Given the description of an element on the screen output the (x, y) to click on. 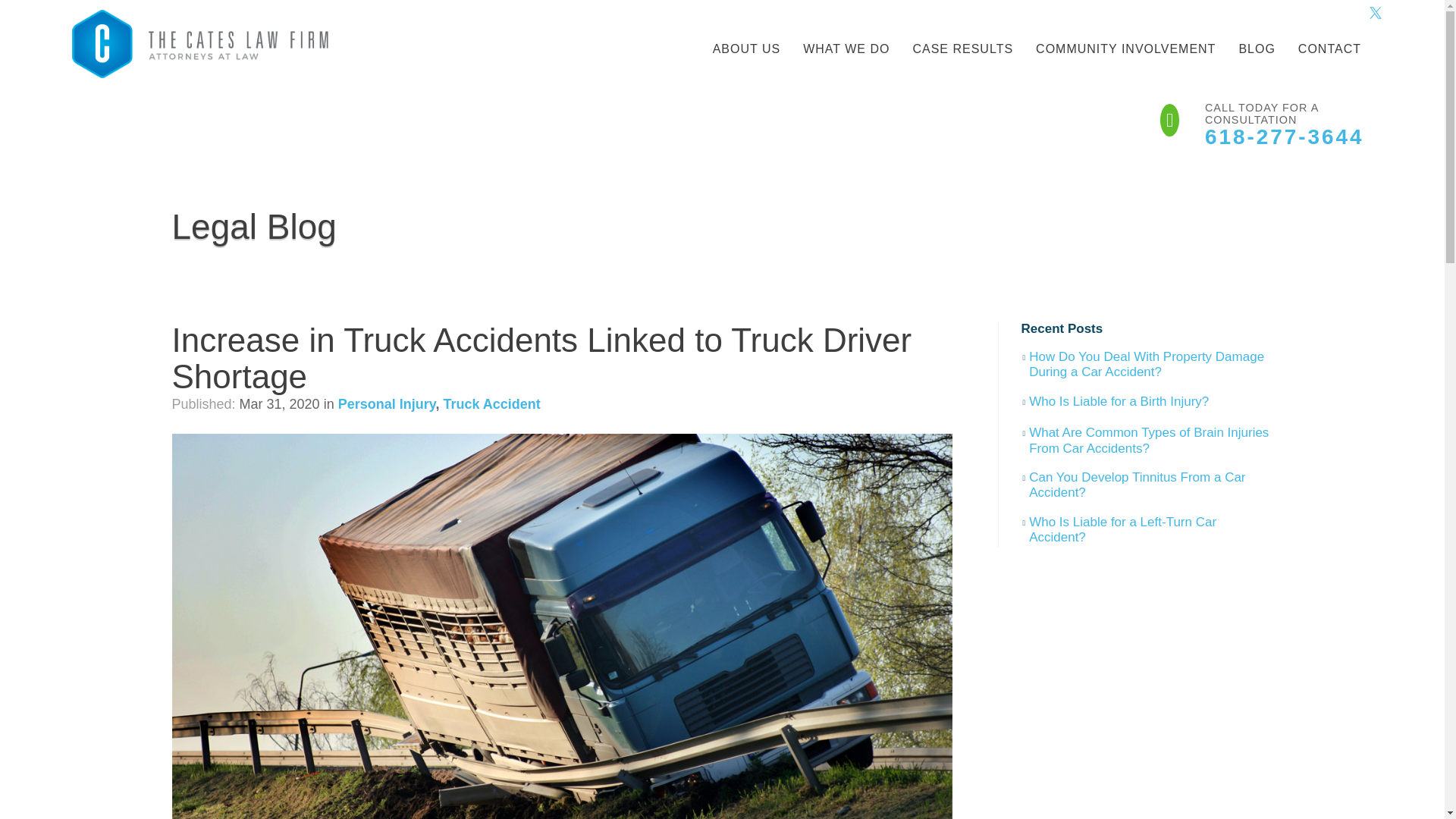
Look Who Is Liable for a Left-Turn Car Accident? (1146, 530)
Look Who Is Liable for a Birth Injury? (1114, 402)
CASE RESULTS (963, 48)
COMMUNITY INVOLVEMENT (1126, 48)
WHAT WE DO (846, 48)
Look Can You Develop Tinnitus From a Car Accident? (1146, 485)
ABOUT US (746, 48)
CONTACT (1330, 48)
